Given the description of an element on the screen output the (x, y) to click on. 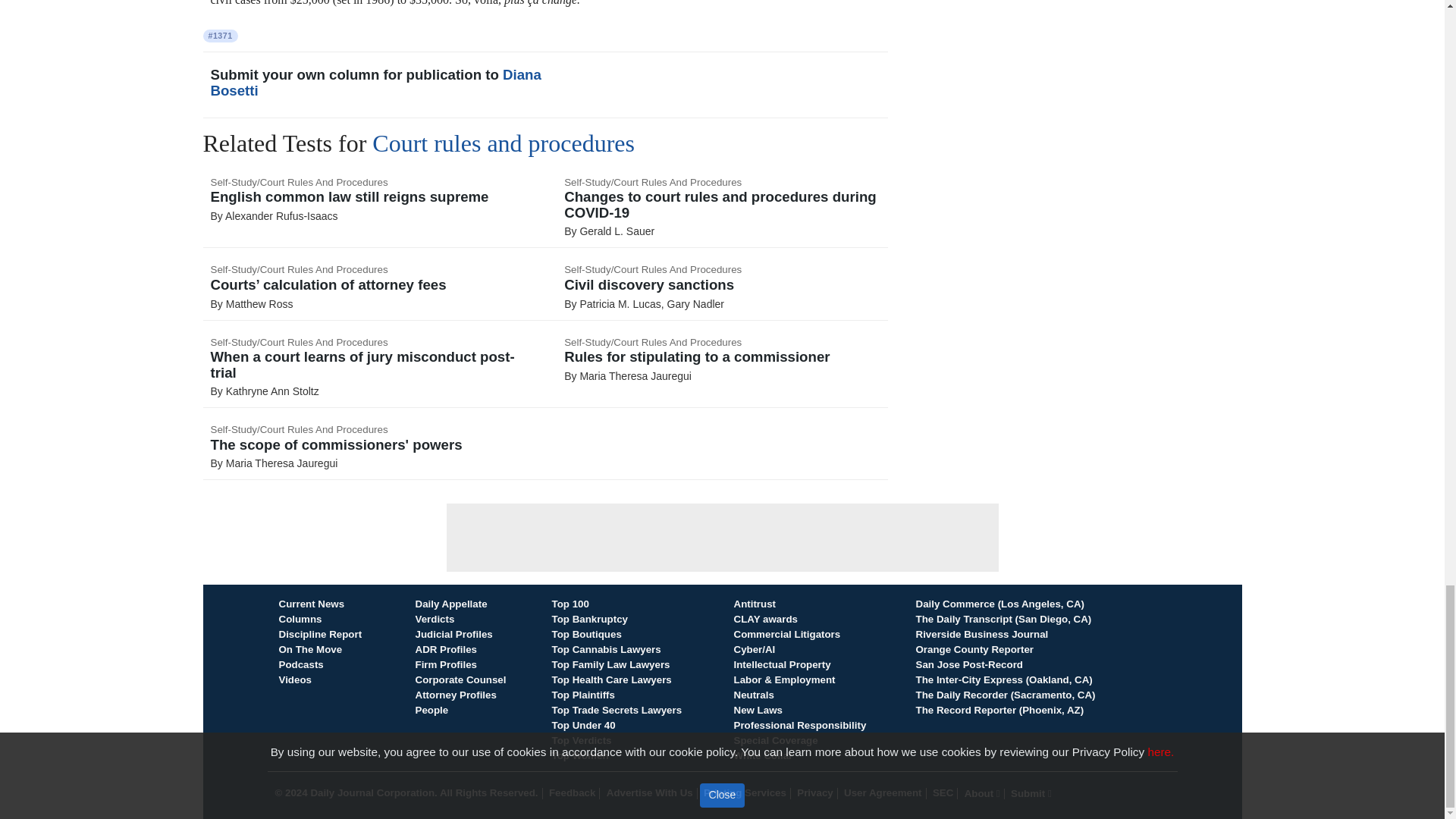
3rd party ad content (721, 537)
